Given the description of an element on the screen output the (x, y) to click on. 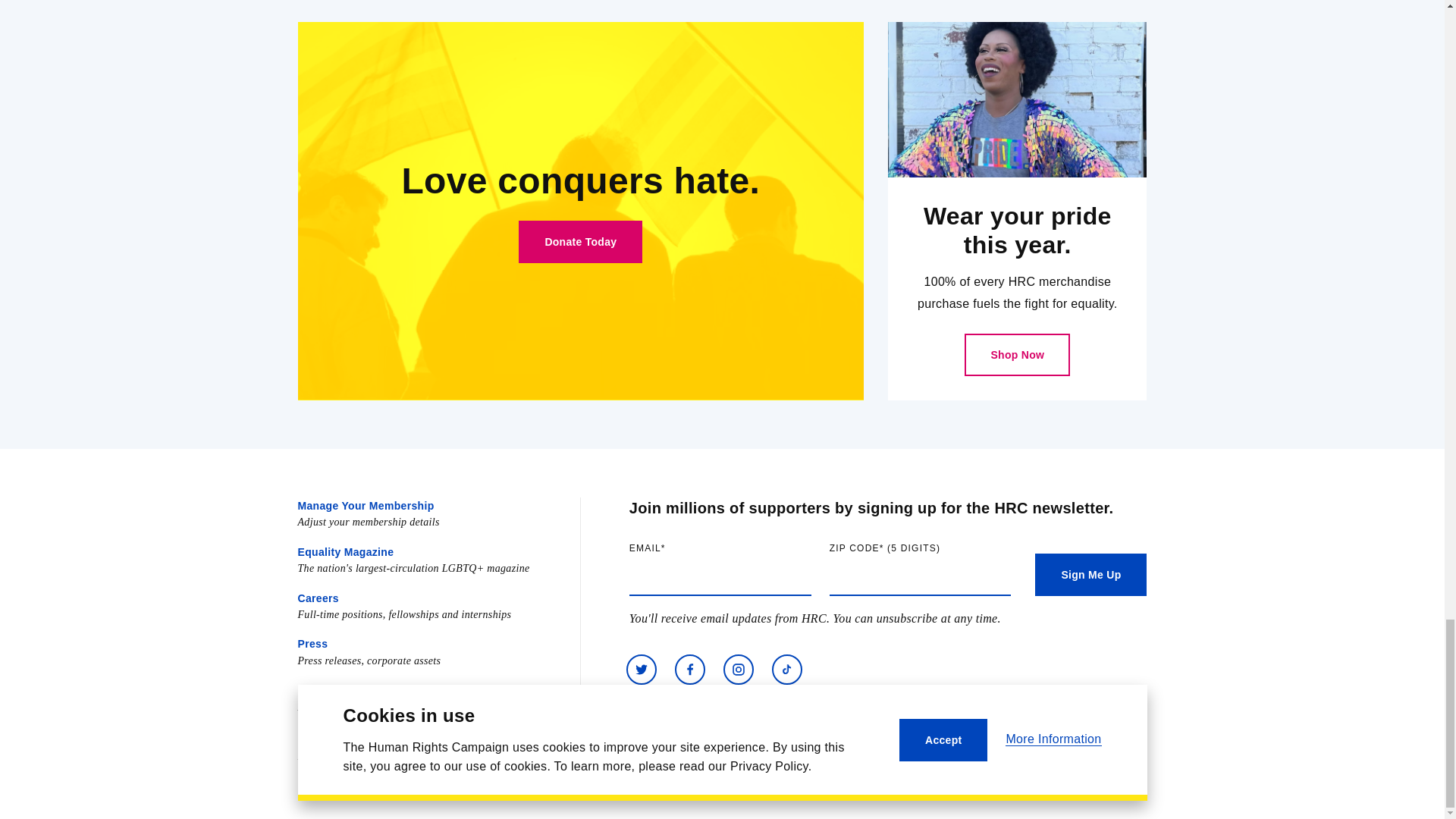
Sign Me Up (1091, 574)
Shop Now (1016, 354)
facebook (689, 669)
instagram (738, 669)
Donate Today (580, 241)
twitter (641, 669)
